Given the description of an element on the screen output the (x, y) to click on. 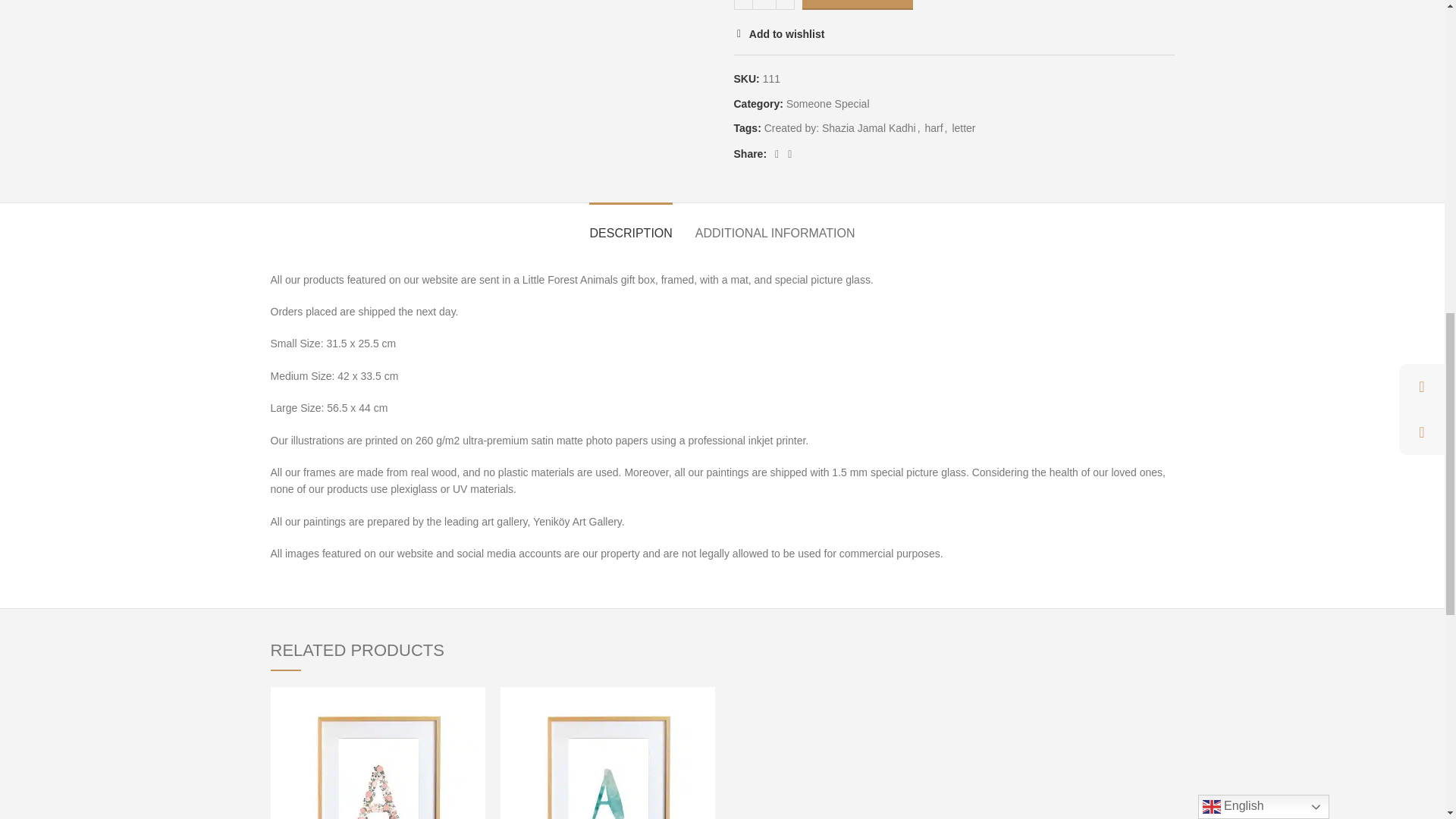
1 (763, 4)
- (742, 4)
